Given the description of an element on the screen output the (x, y) to click on. 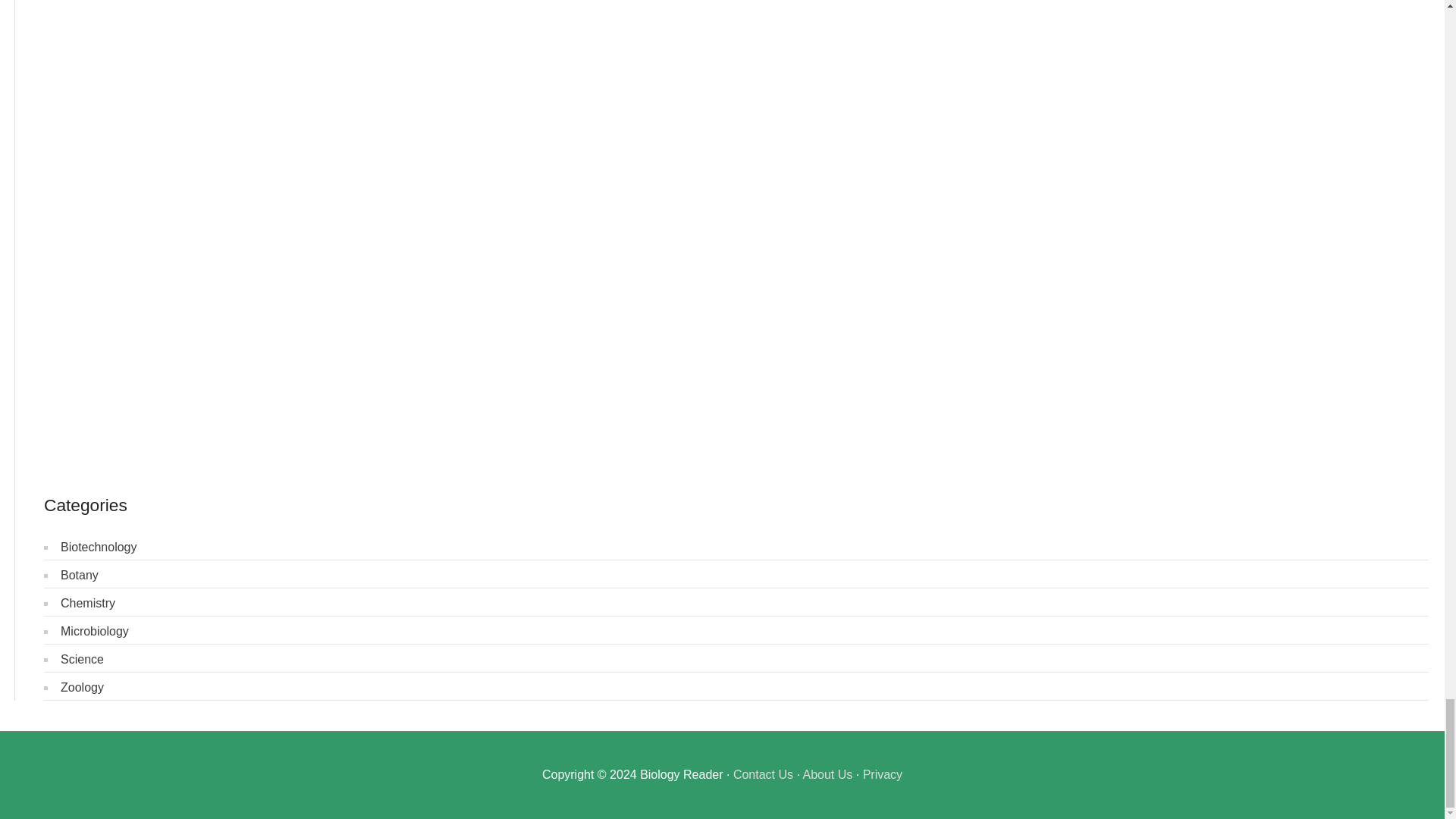
Privacy (882, 774)
About Us (826, 774)
Contact Us (763, 774)
